Given the description of an element on the screen output the (x, y) to click on. 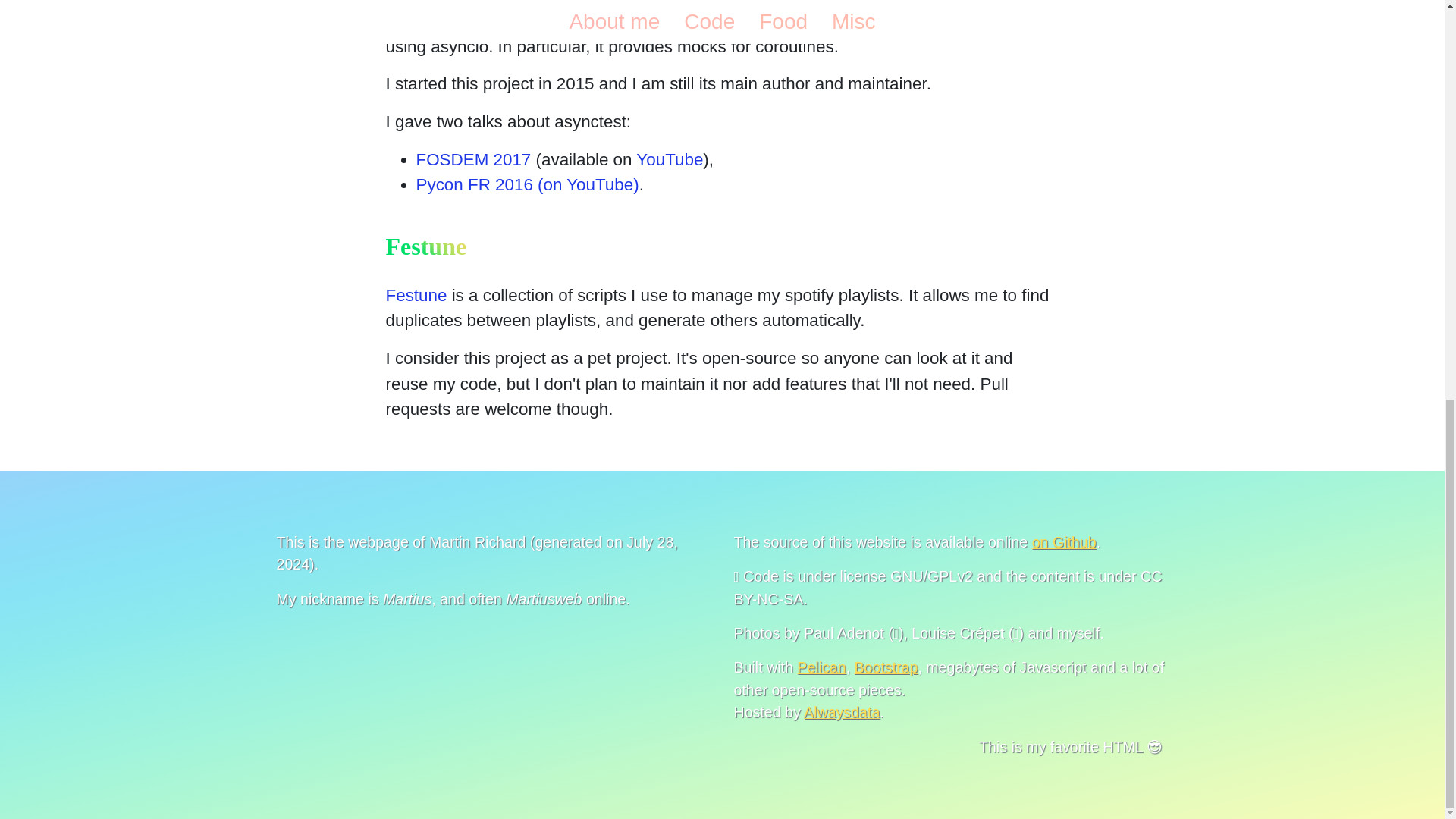
Pelican (820, 667)
Bootstrap (886, 667)
Festune (415, 294)
Asynctest (421, 20)
Alwaysdata (841, 711)
FOSDEM 2017 (472, 158)
on Github (1064, 541)
YouTube (669, 158)
